Given the description of an element on the screen output the (x, y) to click on. 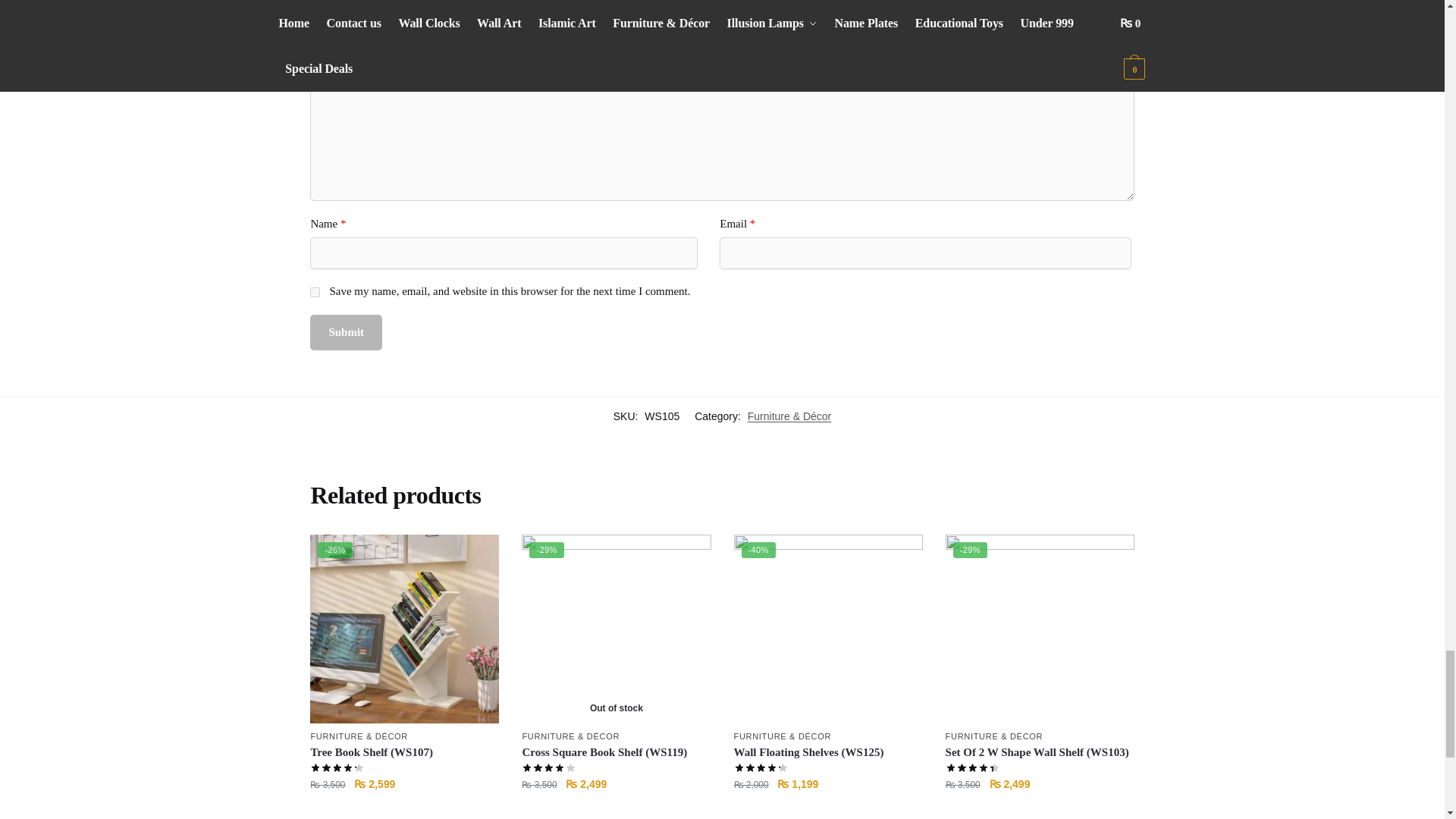
yes (315, 292)
Submit (345, 332)
